Given the description of an element on the screen output the (x, y) to click on. 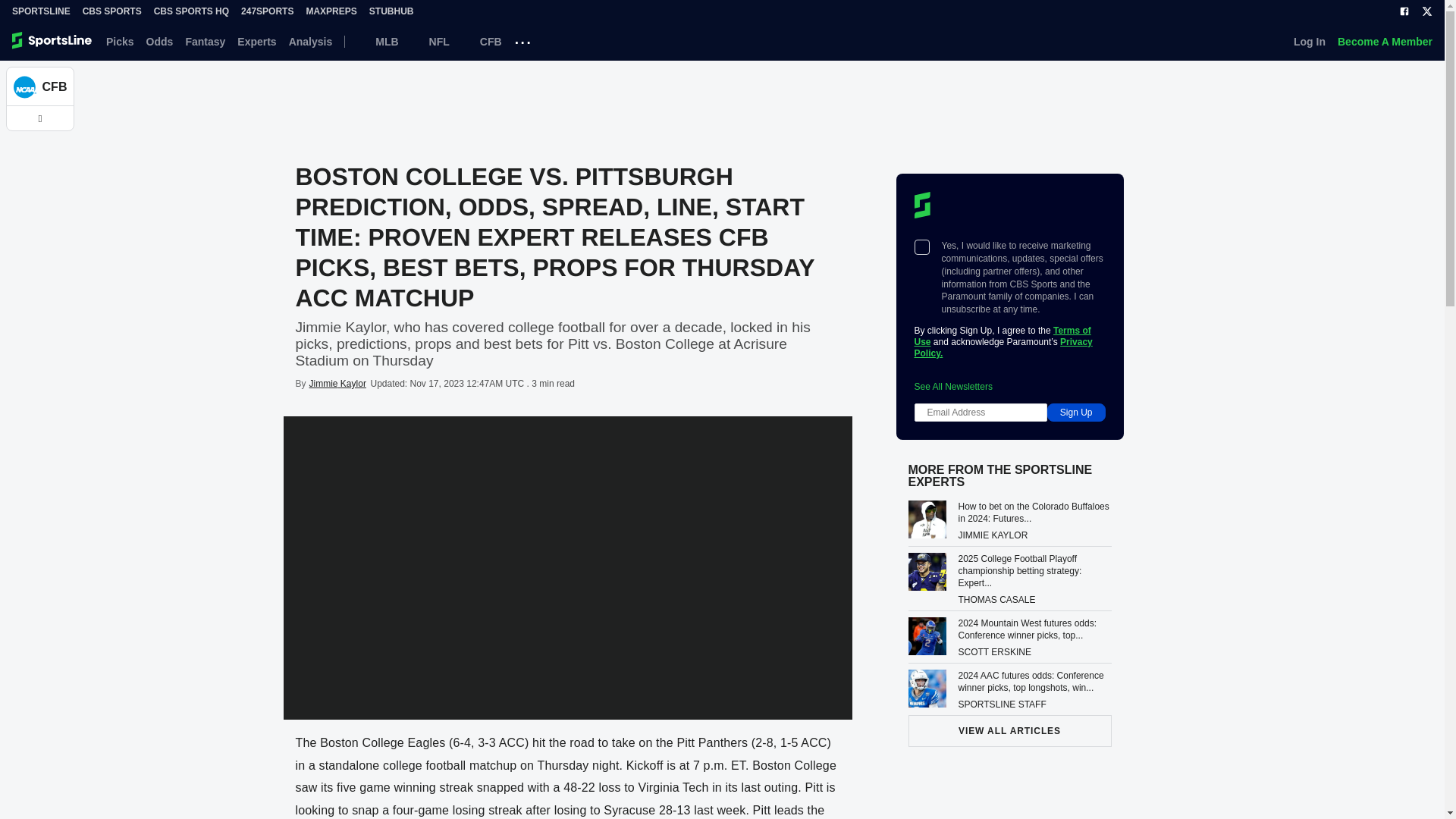
CBS Sports HQ (191, 11)
MLB (376, 41)
247SPORTS (267, 11)
Analysis (310, 41)
sportsline.com (52, 41)
CBS SPORTS (111, 11)
STUBHUB (391, 11)
CFB (481, 41)
StubHub (391, 11)
MaxPreps (330, 11)
